Given the description of an element on the screen output the (x, y) to click on. 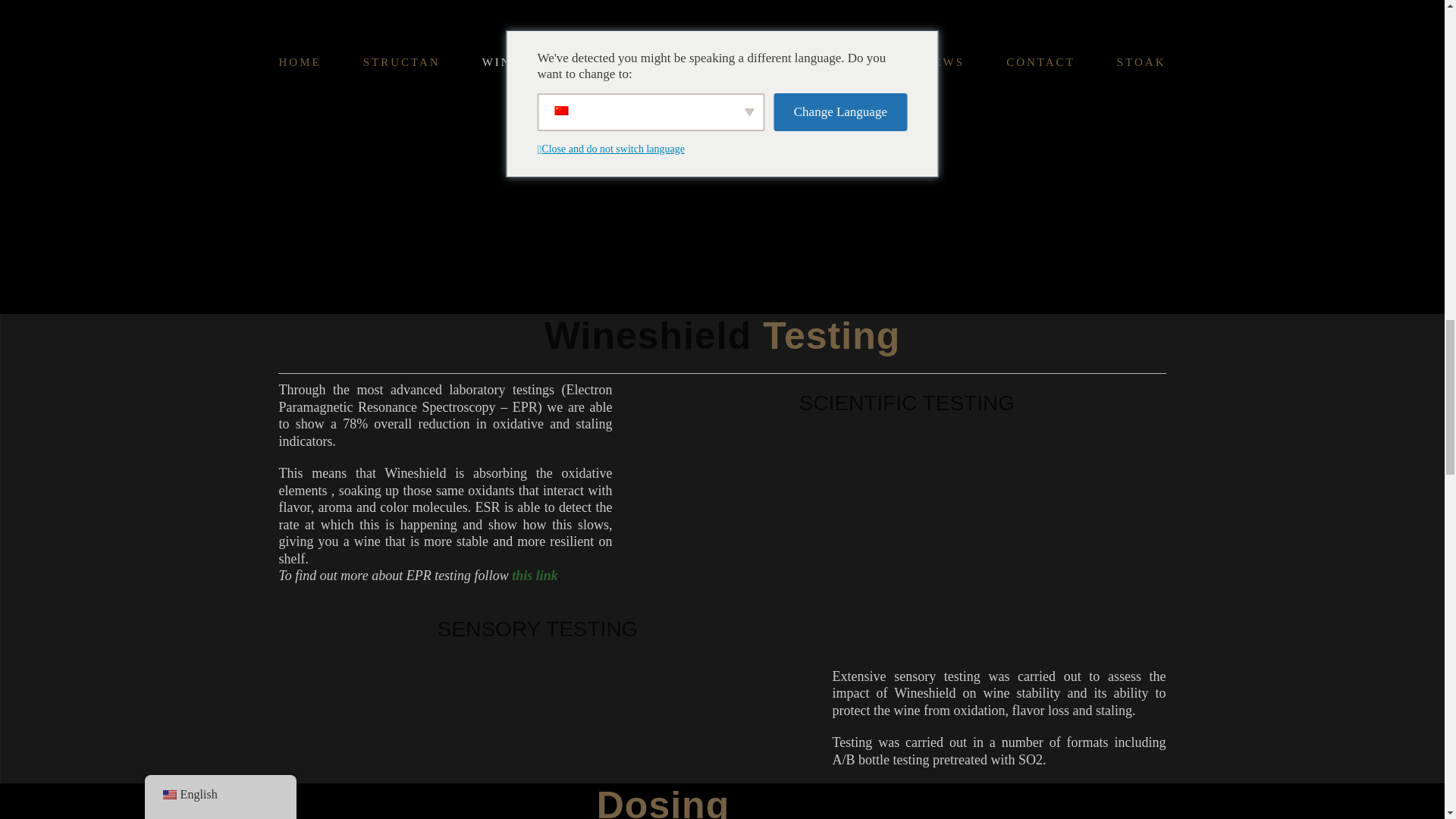
this link (534, 575)
